Given the description of an element on the screen output the (x, y) to click on. 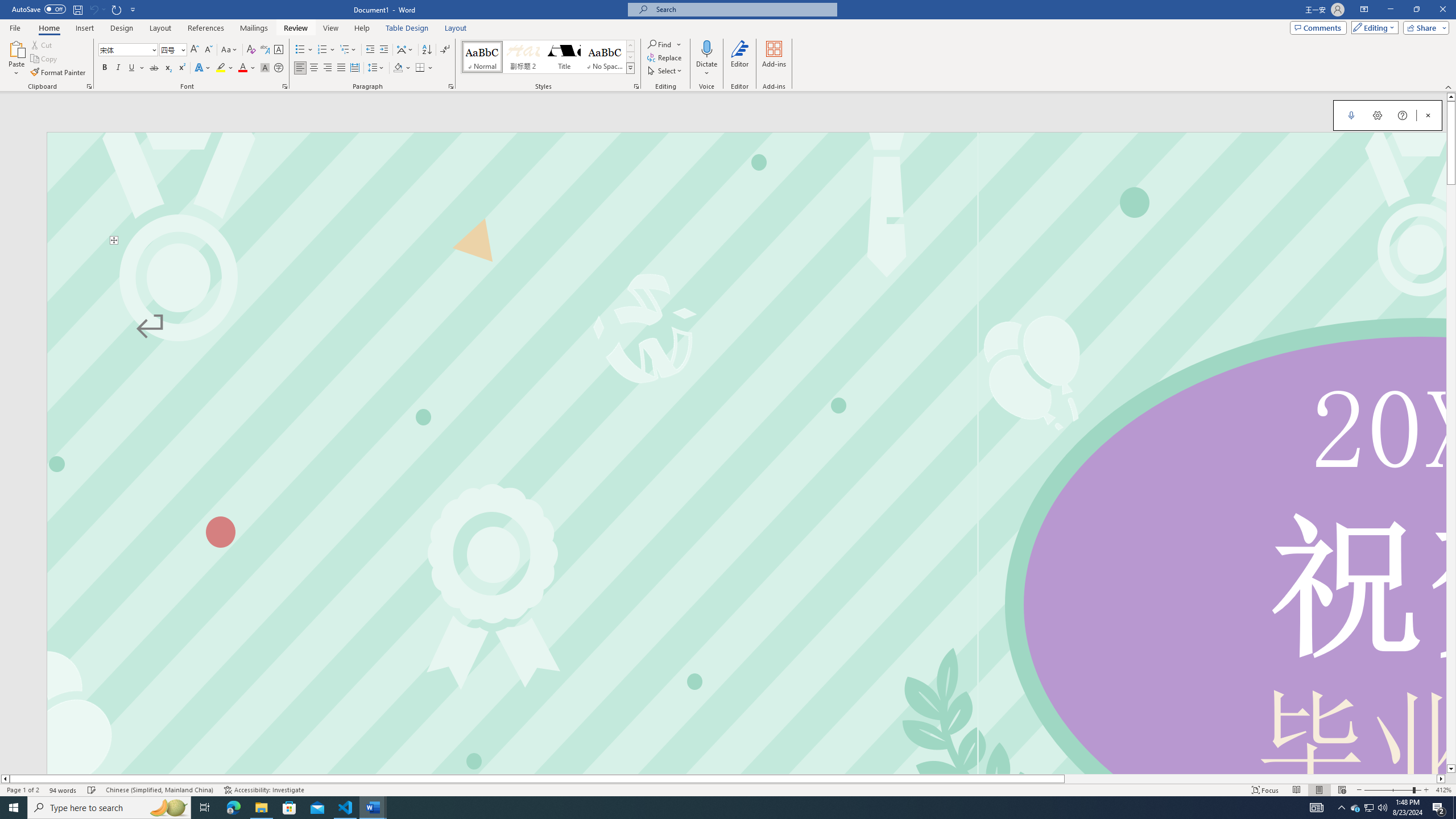
Microsoft search (742, 9)
Cut (42, 44)
Phonetic Guide... (264, 49)
